Given the description of an element on the screen output the (x, y) to click on. 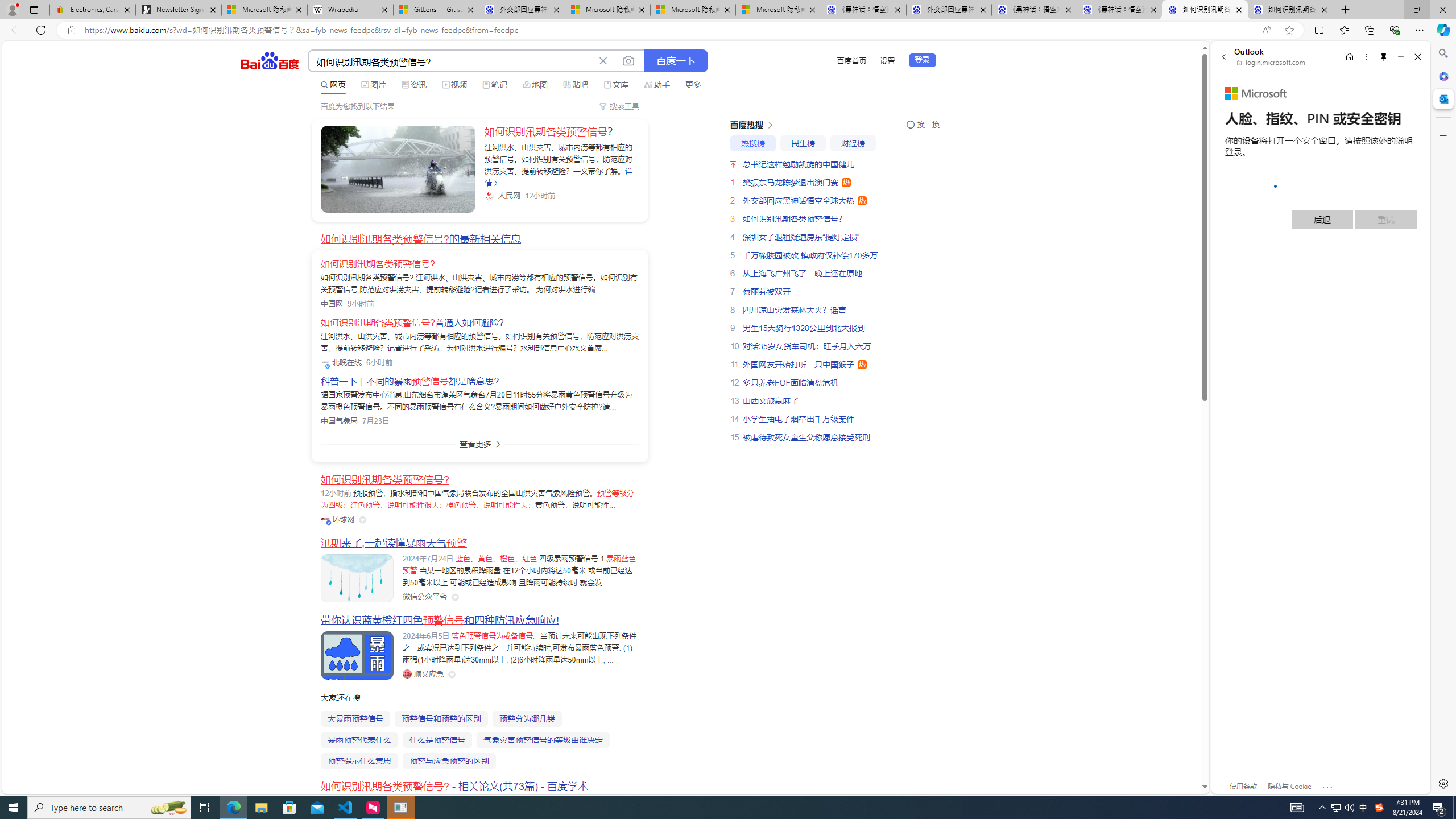
Class: siteLink_9TPP3 (423, 673)
